Given the description of an element on the screen output the (x, y) to click on. 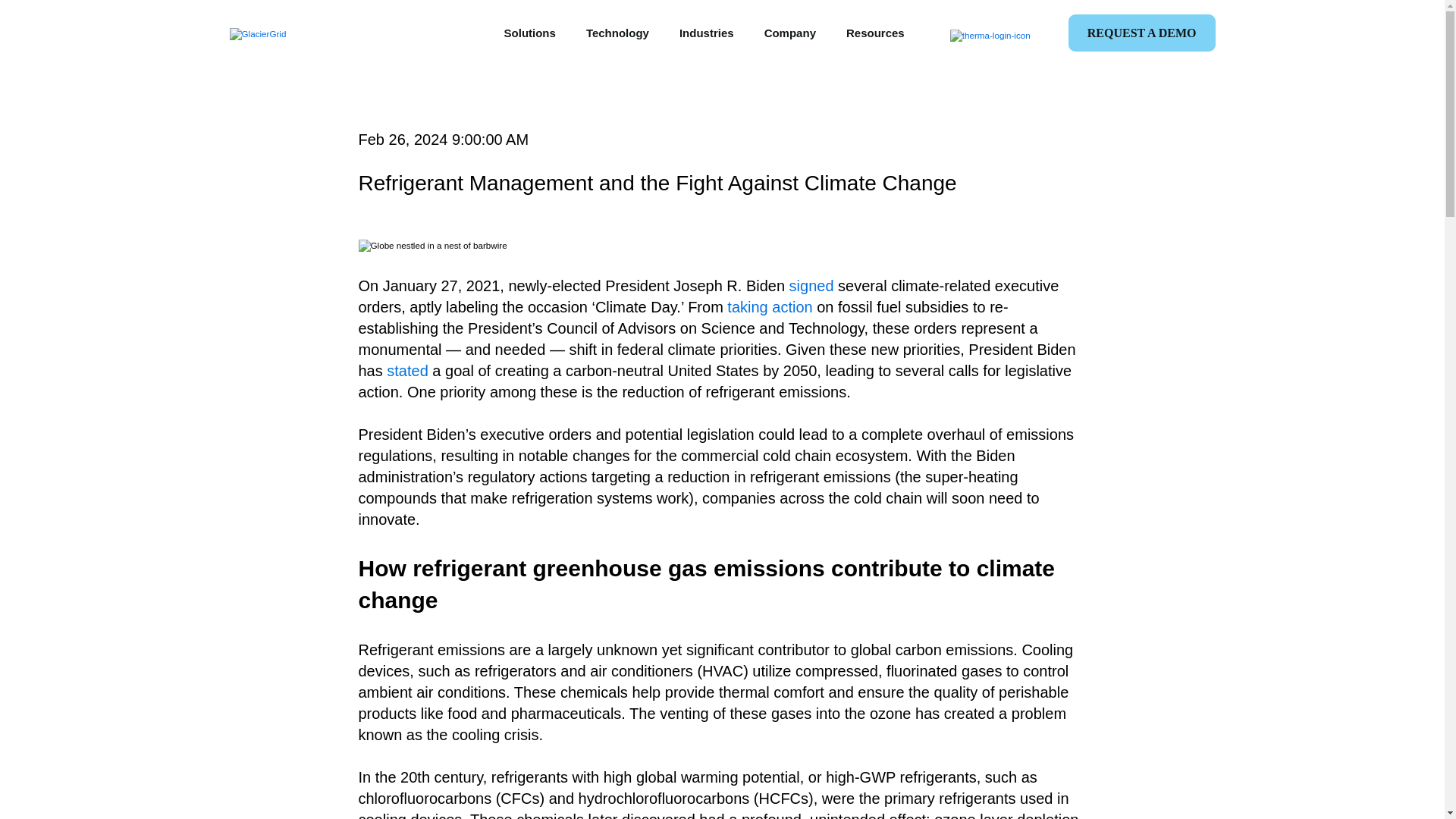
GlacierGrid (256, 33)
REQUEST A DEMO (1141, 32)
